Given the description of an element on the screen output the (x, y) to click on. 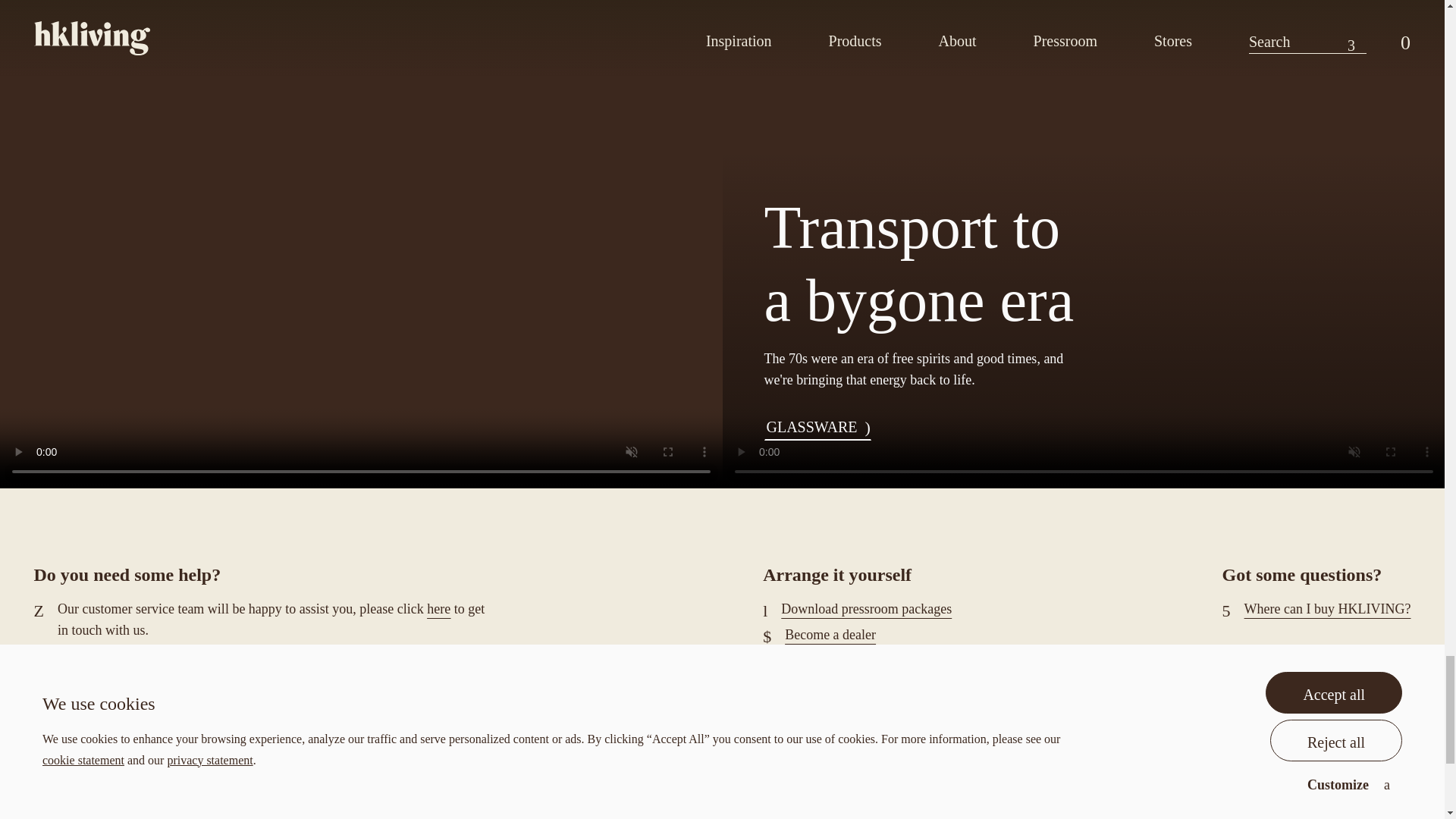
Contact (437, 608)
